Given the description of an element on the screen output the (x, y) to click on. 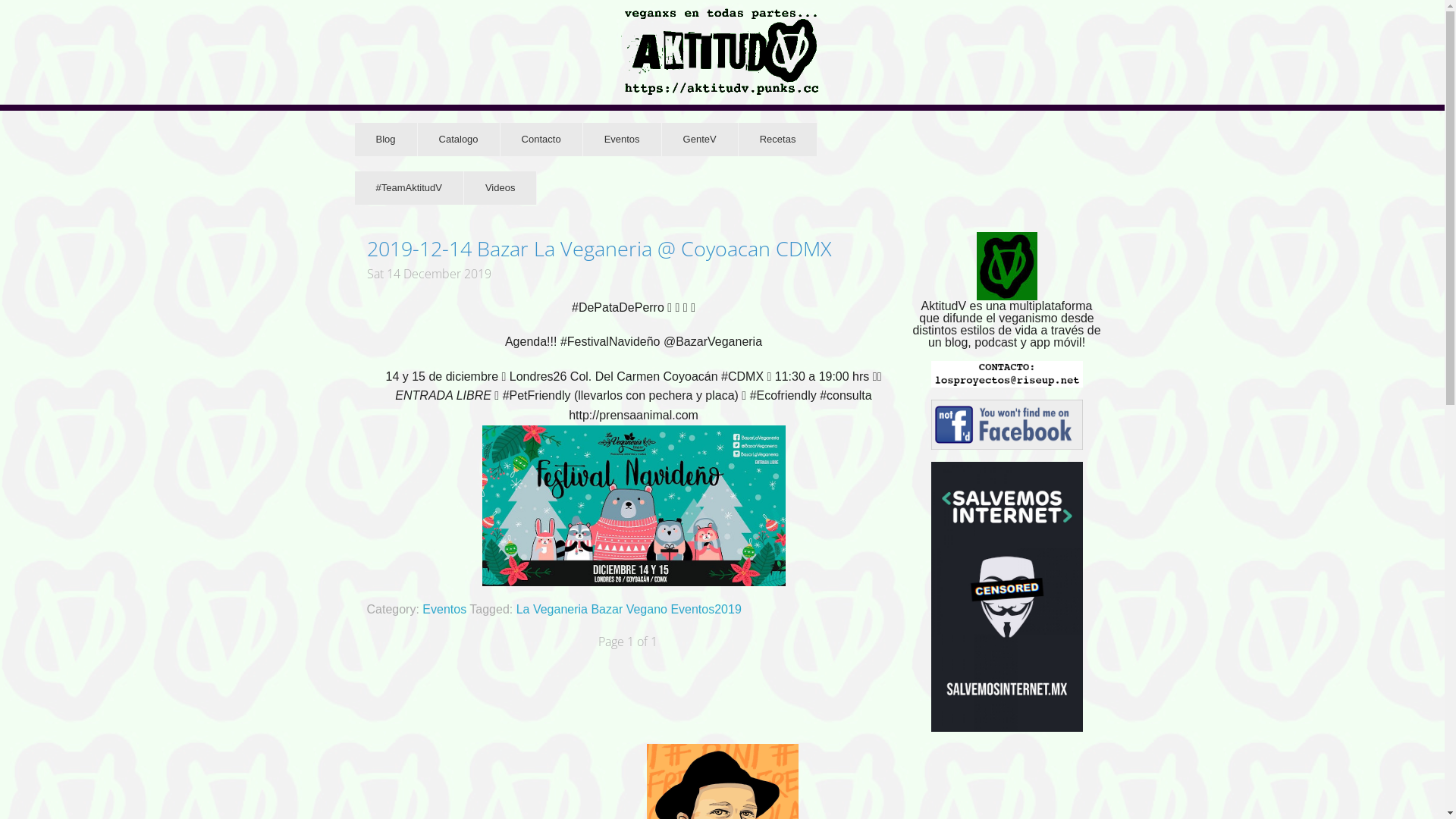
La Veganeria Element type: text (553, 608)
Catalogo Element type: text (458, 139)
Videos Element type: text (500, 187)
#TeamAktitudV Element type: text (409, 187)
Eventos Element type: text (622, 139)
Eventos Element type: text (444, 608)
Recetas Element type: text (778, 139)
Blog Element type: text (385, 139)
Bazar Vegano Element type: text (630, 608)
Contacto Element type: text (541, 139)
GenteV Element type: text (700, 139)
Eventos2019 Element type: text (705, 608)
2019-12-14 Bazar La Veganeria @ Coyoacan CDMX Element type: text (633, 248)
